Given the description of an element on the screen output the (x, y) to click on. 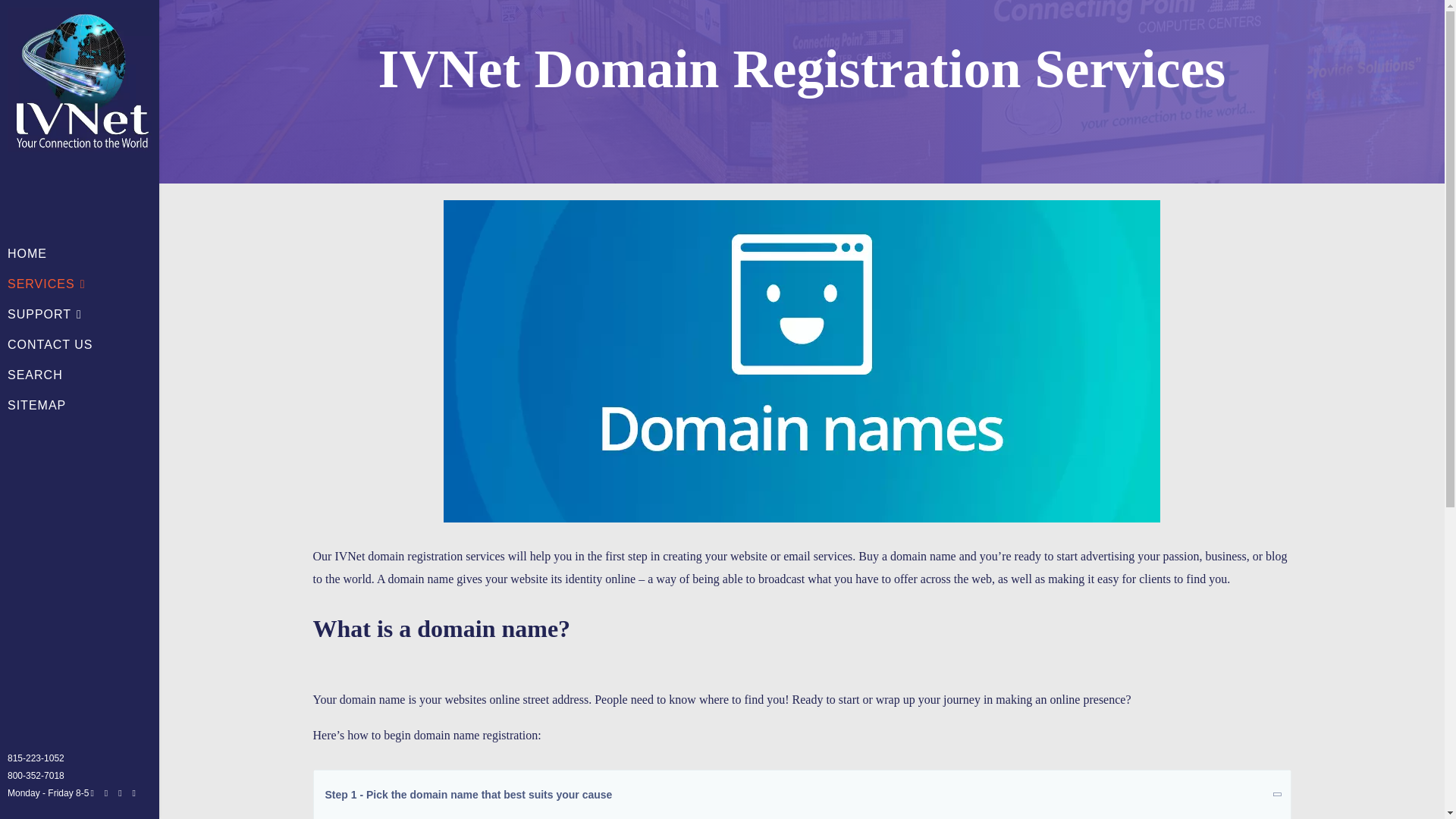
Step 1 - Pick the domain name that best suits your cause (802, 794)
800-352-7018 (35, 775)
SUPPORT (44, 314)
CONTACT US (50, 345)
SERVICES (45, 284)
HOME (26, 254)
SEARCH (34, 375)
SITEMAP (36, 405)
815-223-1052 (35, 757)
